Given the description of an element on the screen output the (x, y) to click on. 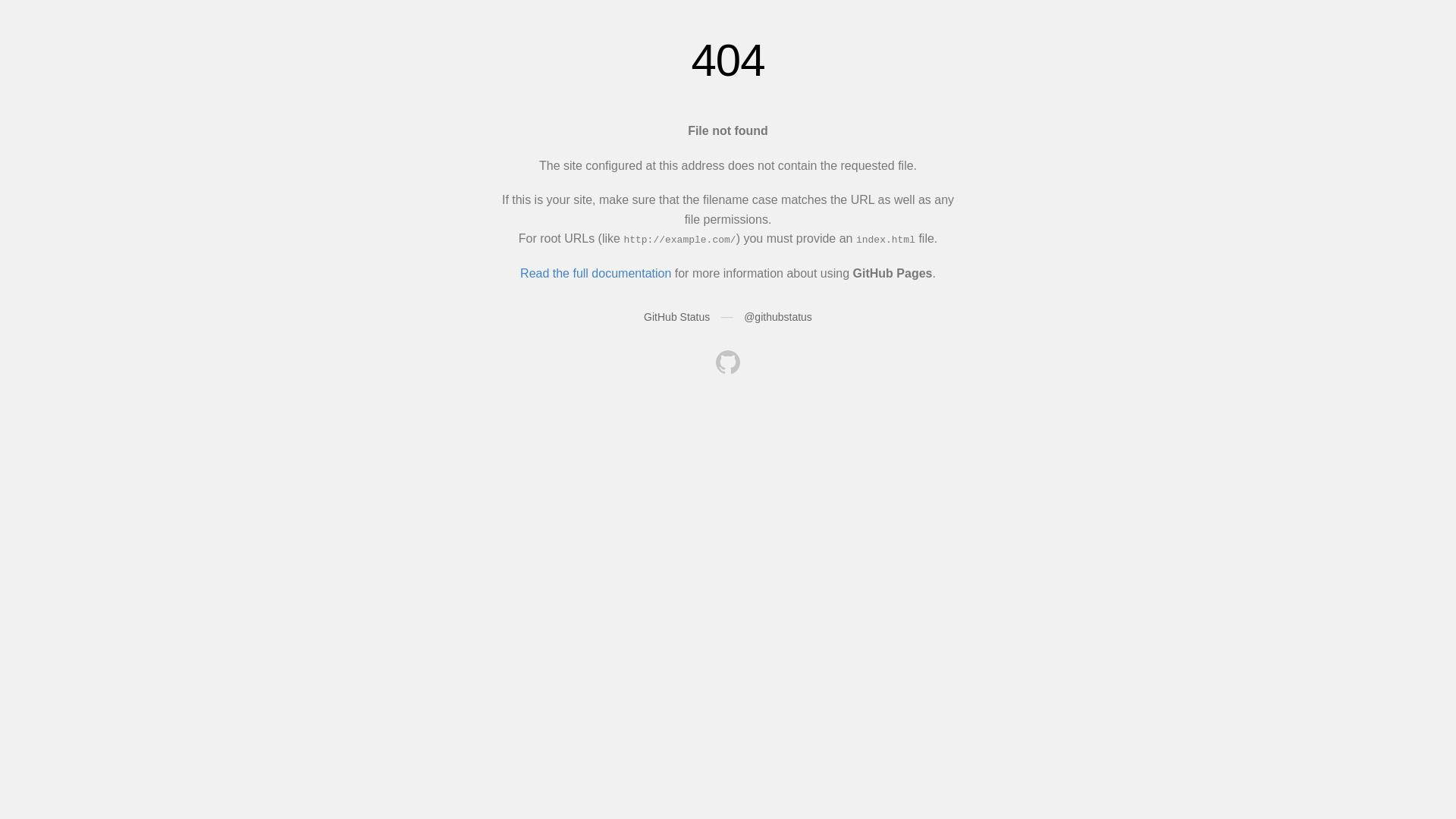
@githubstatus Element type: text (777, 316)
GitHub Status Element type: text (676, 316)
Read the full documentation Element type: text (595, 272)
